Given the description of an element on the screen output the (x, y) to click on. 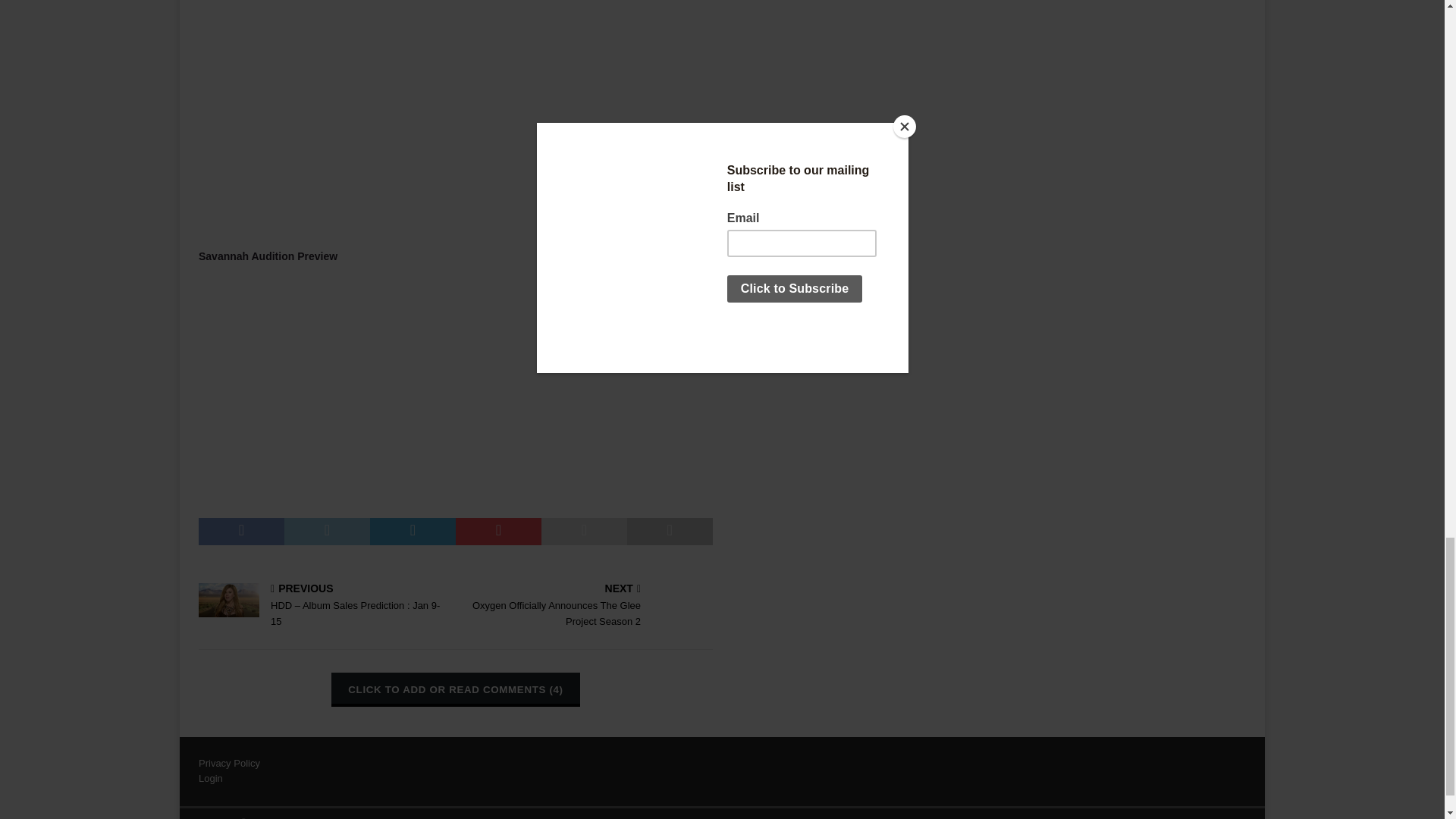
Phillip Phillips-Lollipop mix (455, 113)
